Given the description of an element on the screen output the (x, y) to click on. 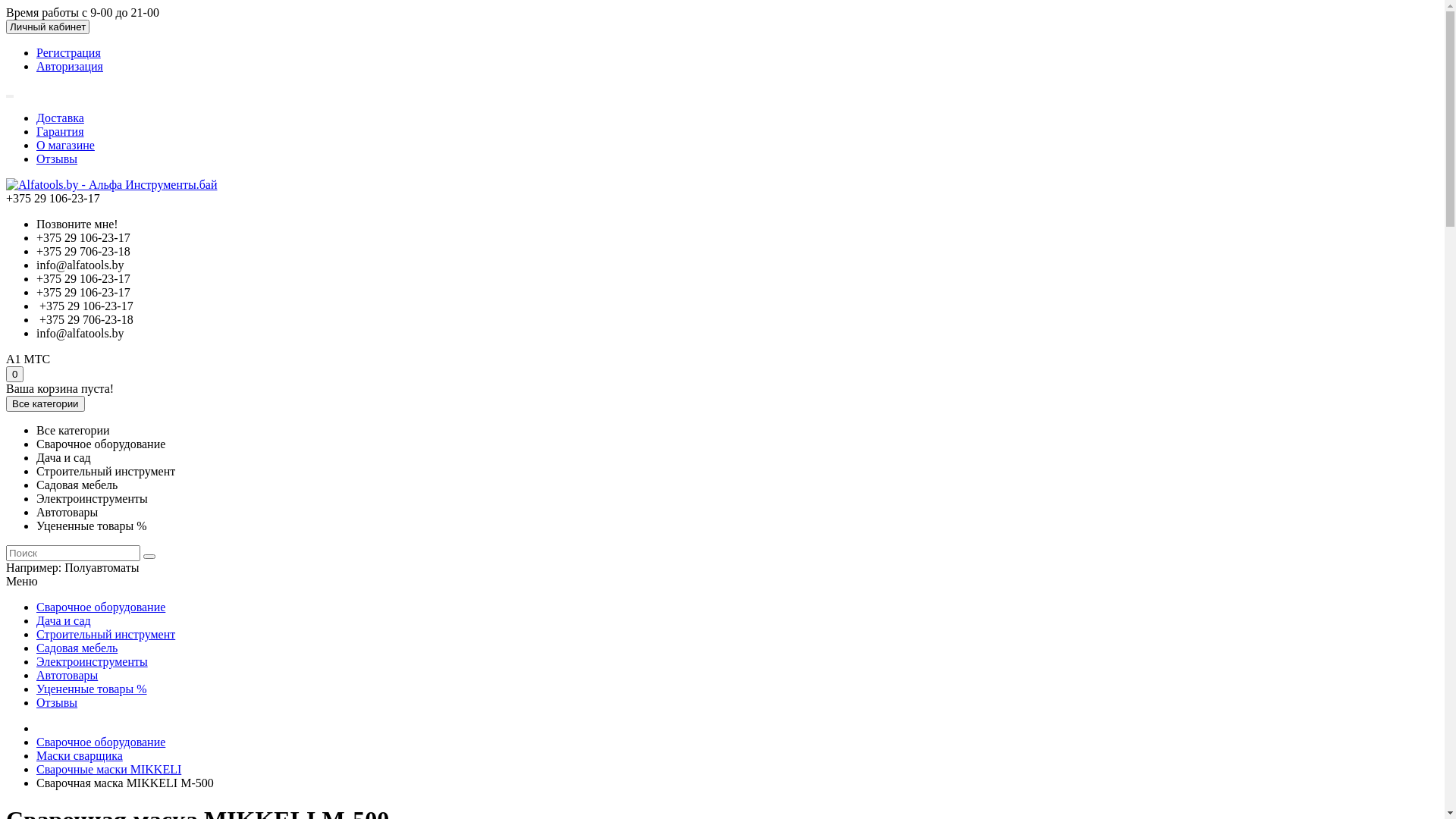
+375 29 106-23-17 Element type: text (83, 291)
+375 29 106-23-17 Element type: text (84, 305)
0 Element type: text (14, 374)
+375 29 106-23-17 Element type: text (83, 278)
info@alfatools.by Element type: text (80, 264)
+375 29 106-23-17 Element type: text (83, 237)
+375 29 706-23-18 Element type: text (83, 250)
+375 29 706-23-18 Element type: text (84, 319)
info@alfatools.by Element type: text (80, 332)
